Given the description of an element on the screen output the (x, y) to click on. 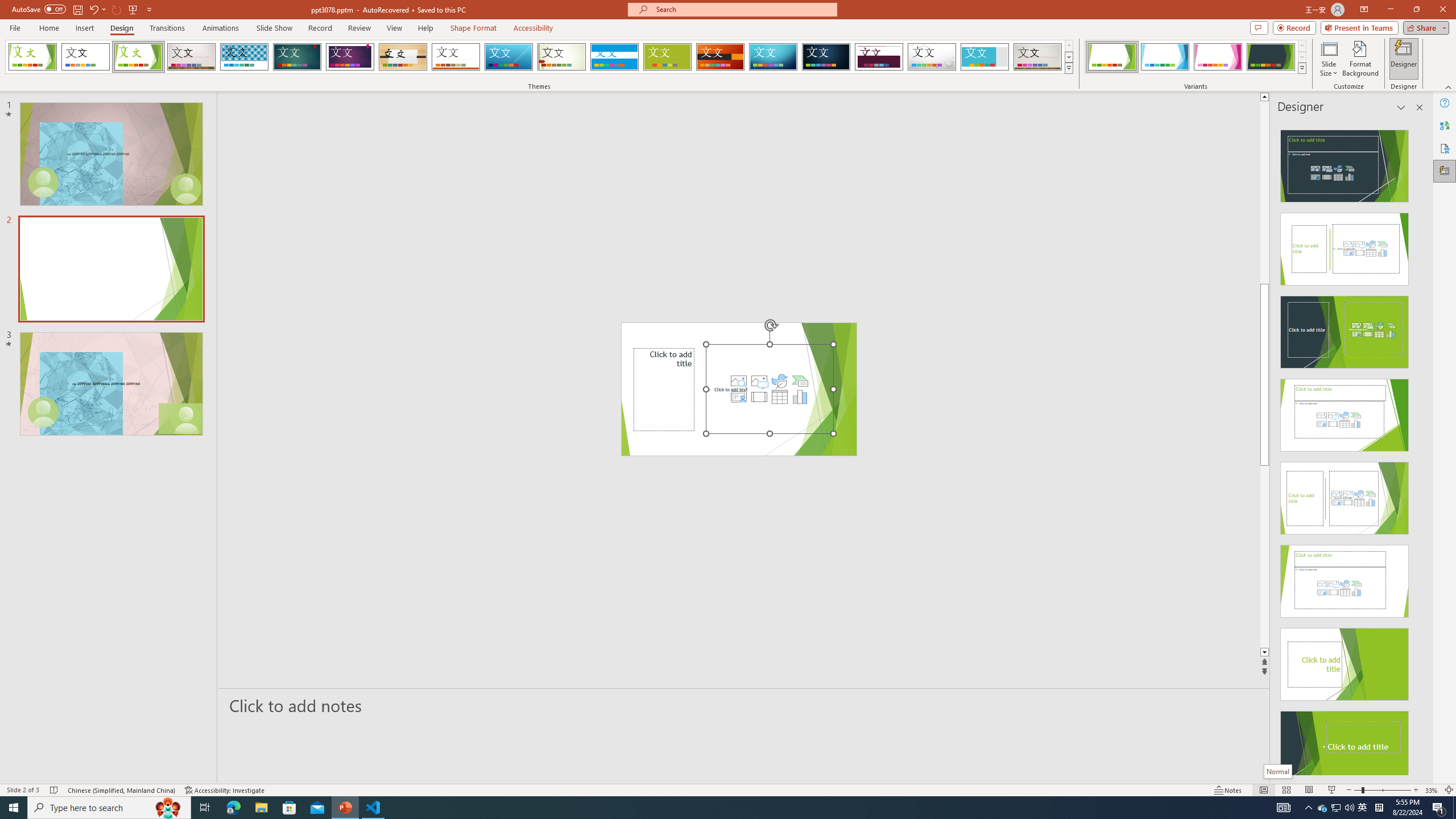
Damask (826, 56)
Ion Boardroom (350, 56)
